Given the description of an element on the screen output the (x, y) to click on. 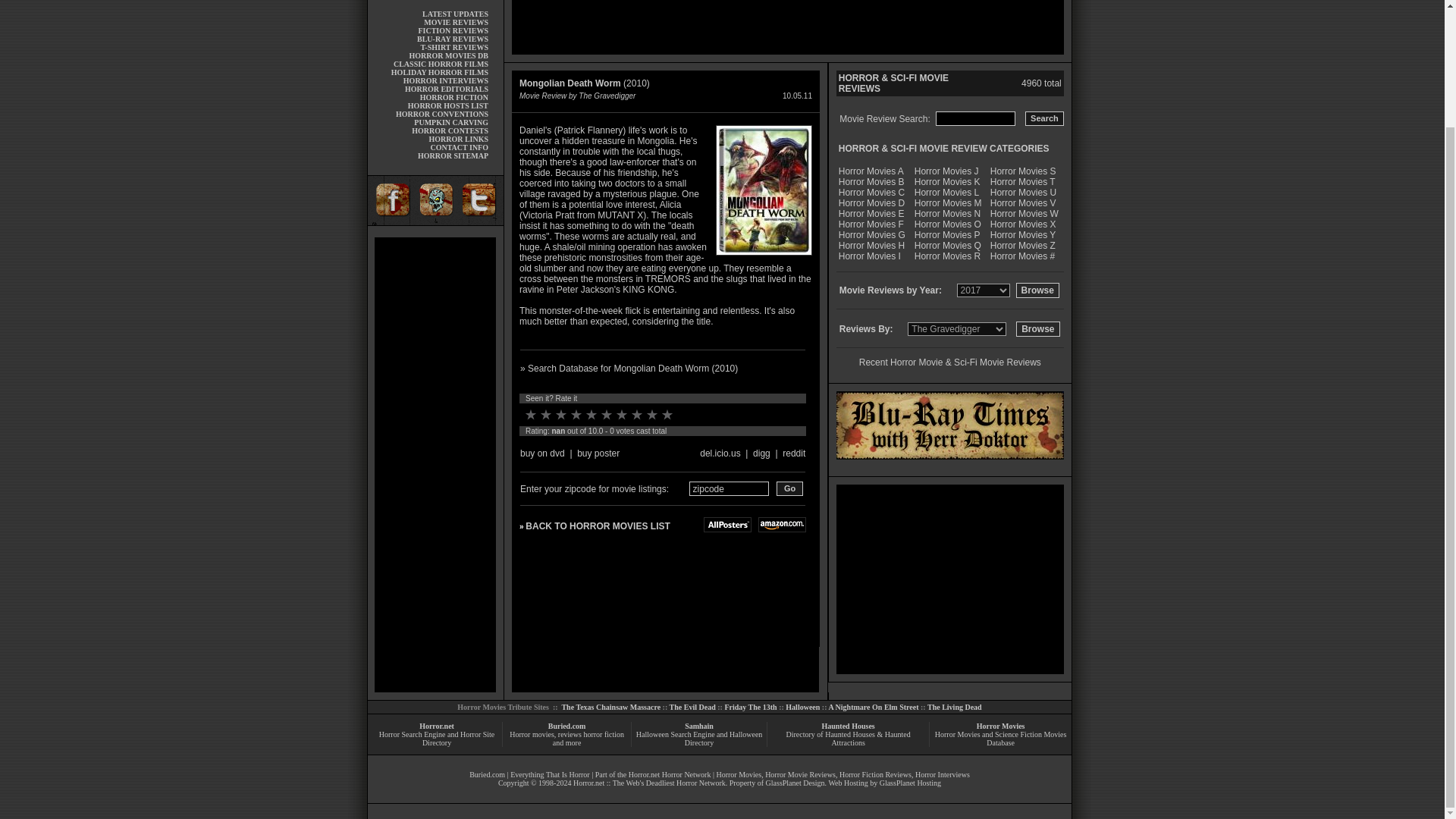
zipcode (728, 488)
HORROR INTERVIEWS (445, 80)
4 (576, 414)
HOLIDAY HORROR FILMS (439, 71)
3 (561, 414)
Horror movies, reviews and more at buried.com (435, 4)
HORROR FICTION (453, 97)
Go (789, 488)
FICTION REVIEWS (452, 30)
1 (530, 414)
HORROR LINKS (457, 139)
T-SHIRT REVIEWS (453, 47)
MOVIE REVIEWS (455, 22)
Search (1044, 118)
2 (545, 414)
